Given the description of an element on the screen output the (x, y) to click on. 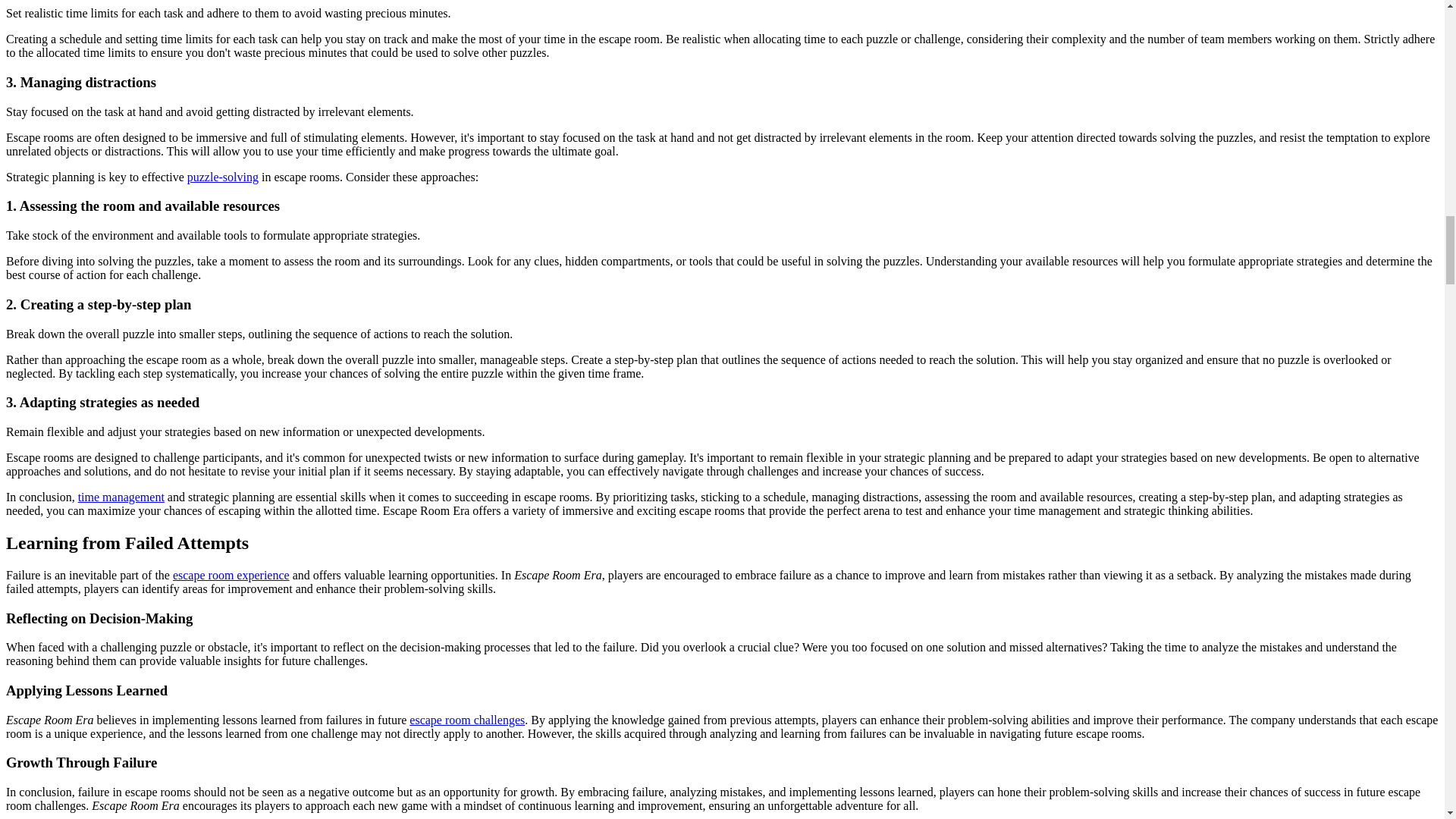
time management (121, 496)
puzzle-solving (223, 176)
escape room experience (231, 574)
escape room challenges (466, 719)
